Given the description of an element on the screen output the (x, y) to click on. 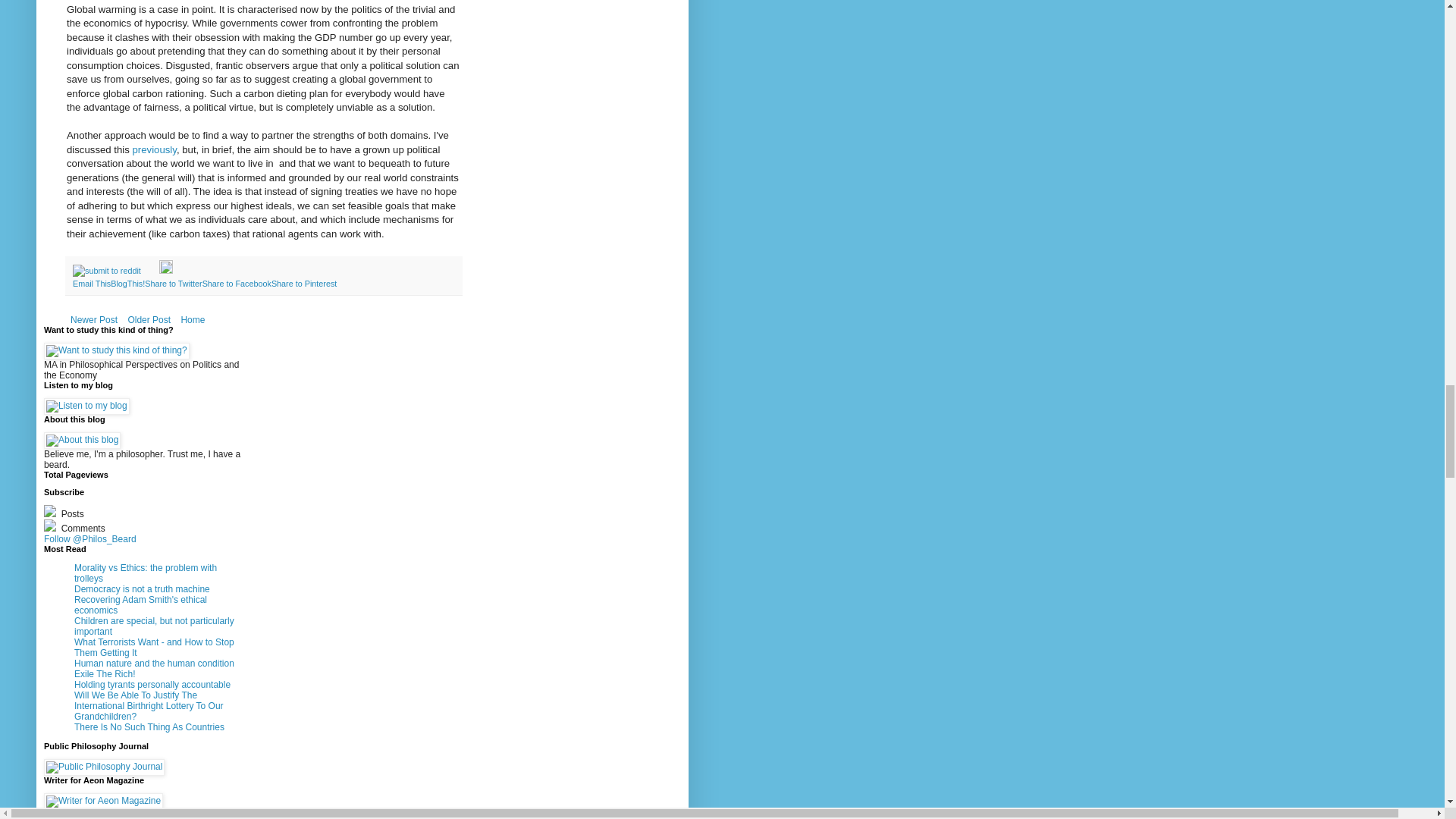
There Is No Such Thing As Countries (149, 726)
Share to Pinterest (303, 283)
Share to Twitter (173, 283)
Democracy is not a truth machine (141, 588)
BlogThis! (127, 283)
previously (154, 149)
Edit Post (165, 270)
Children are special, but not particularly important (154, 626)
Share to Facebook (236, 283)
Newer Post (93, 320)
Human nature and the human condition (154, 663)
Email Post (150, 270)
Exile The Rich! (104, 674)
Newer Post (93, 320)
